Given the description of an element on the screen output the (x, y) to click on. 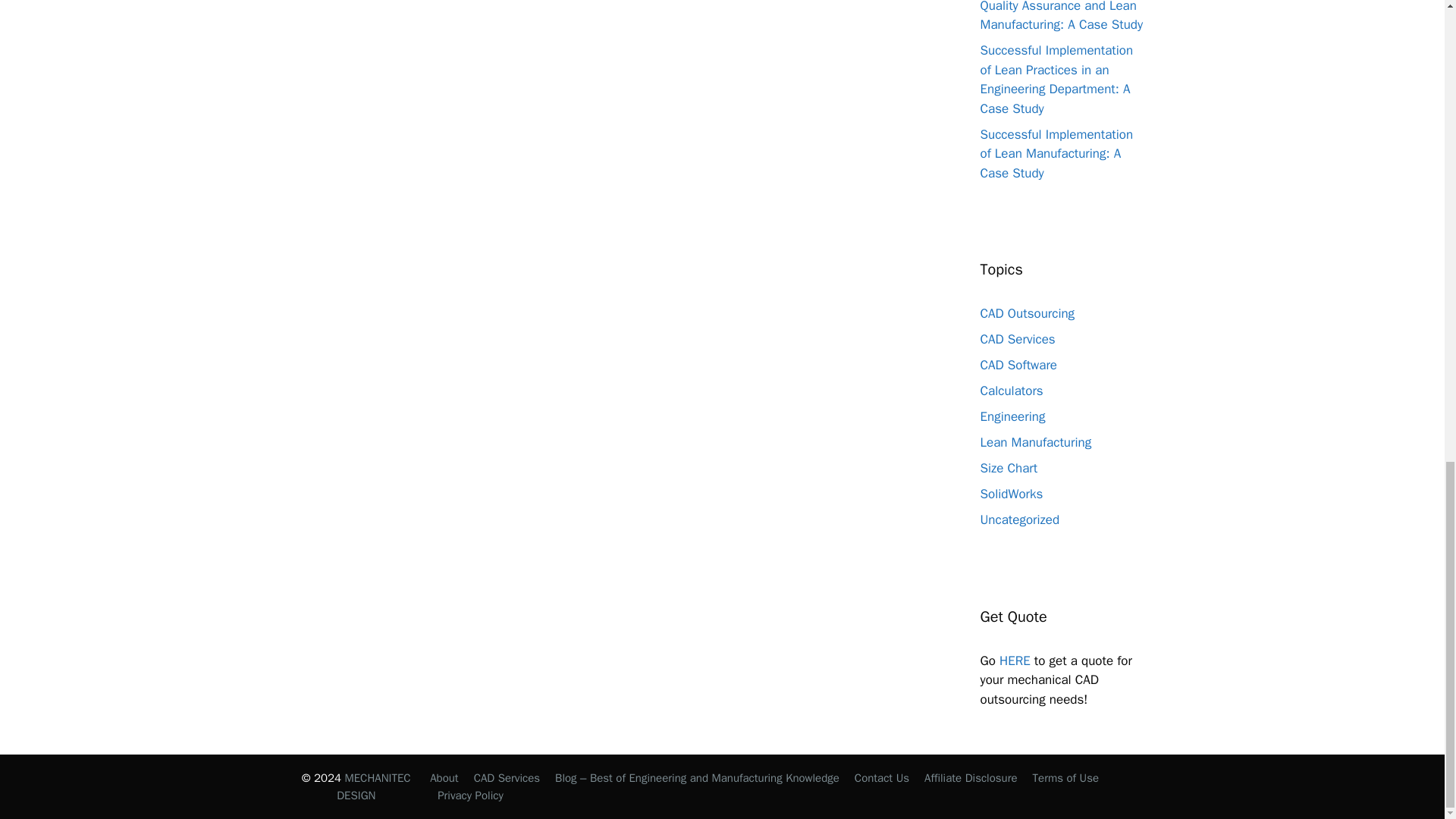
CAD Software (1018, 365)
SolidWorks (1010, 494)
Lean Manufacturing (1034, 442)
Uncategorized (1019, 519)
CAD Services (1016, 339)
CAD Outsourcing (1026, 313)
HERE (1014, 660)
Engineering (1012, 416)
Size Chart (1007, 467)
Scroll back to top (1406, 472)
Calculators (1010, 390)
